Given the description of an element on the screen output the (x, y) to click on. 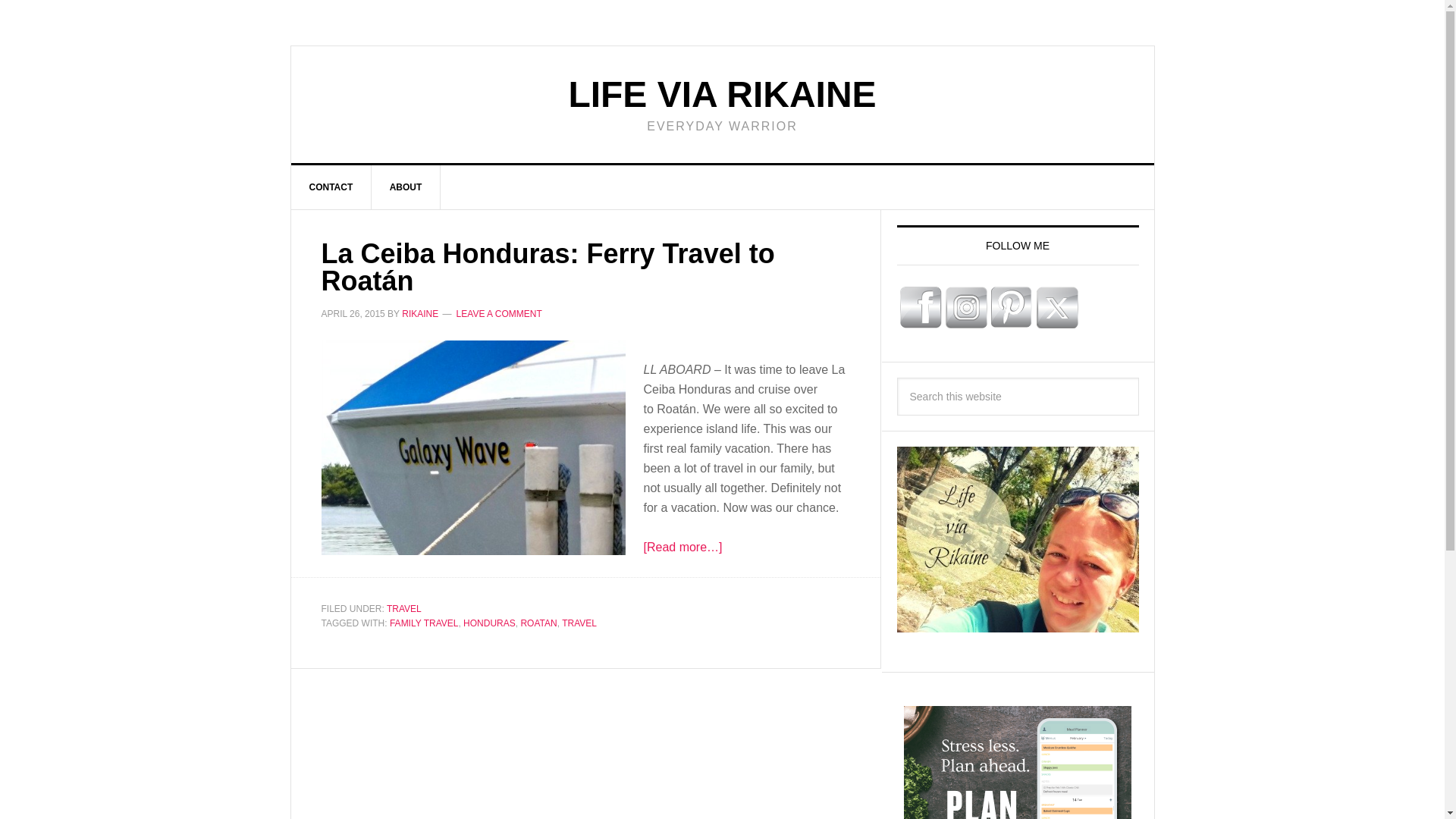
RIKAINE (419, 313)
ABOUT (406, 187)
TRAVEL (404, 608)
Facebook (919, 307)
LEAVE A COMMENT (499, 313)
TRAVEL (579, 623)
Instagram (965, 307)
CONTACT (331, 187)
HONDURAS (489, 623)
FAMILY TRAVEL (424, 623)
Pinterest (1011, 307)
LIFE VIA RIKAINE (721, 94)
ROATAN (537, 623)
Twitter (1056, 307)
